Given the description of an element on the screen output the (x, y) to click on. 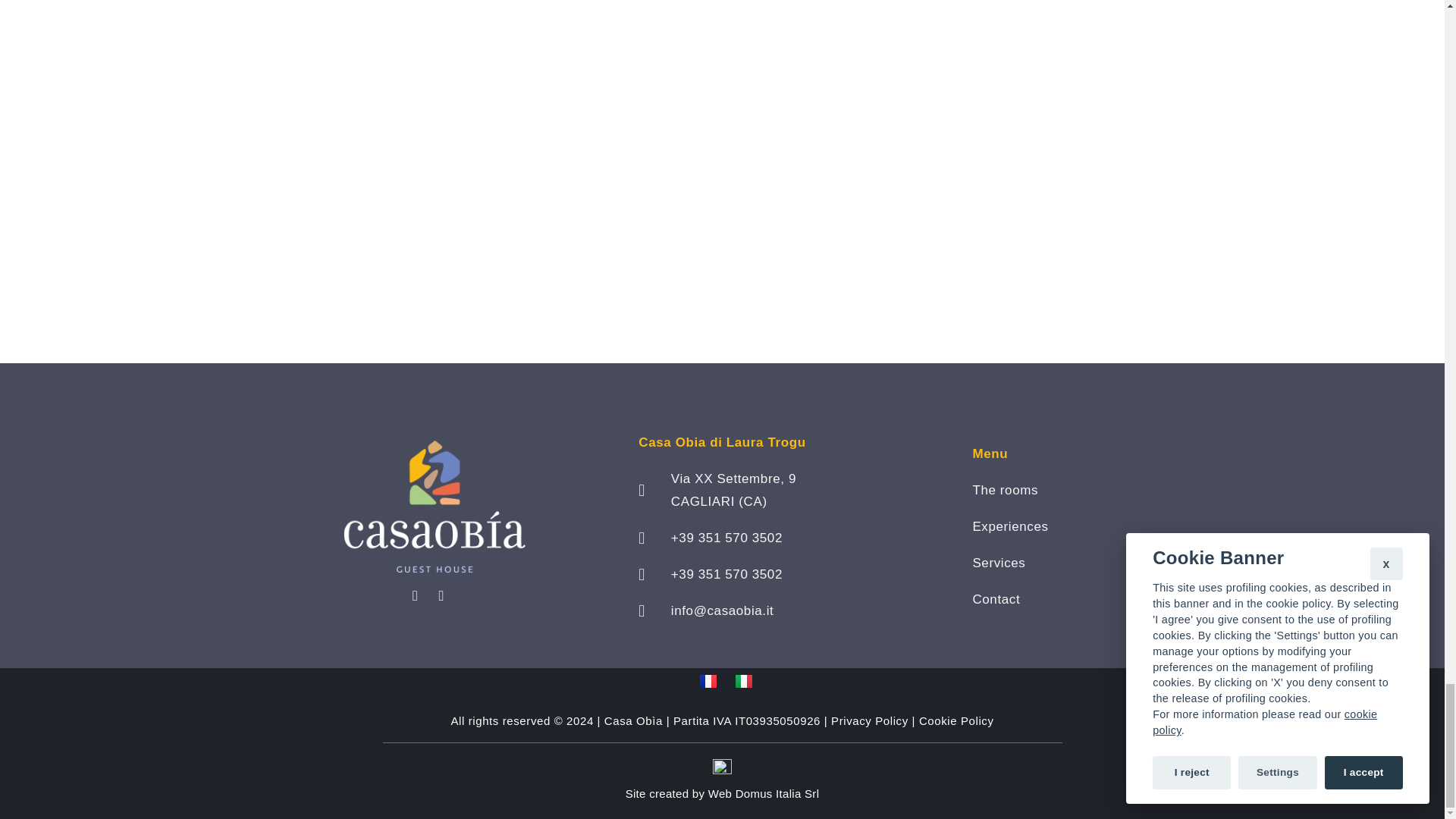
Casa Obia di Laura Trogu (722, 442)
The rooms (1010, 490)
Services (1010, 563)
Experiences (1010, 526)
